Given the description of an element on the screen output the (x, y) to click on. 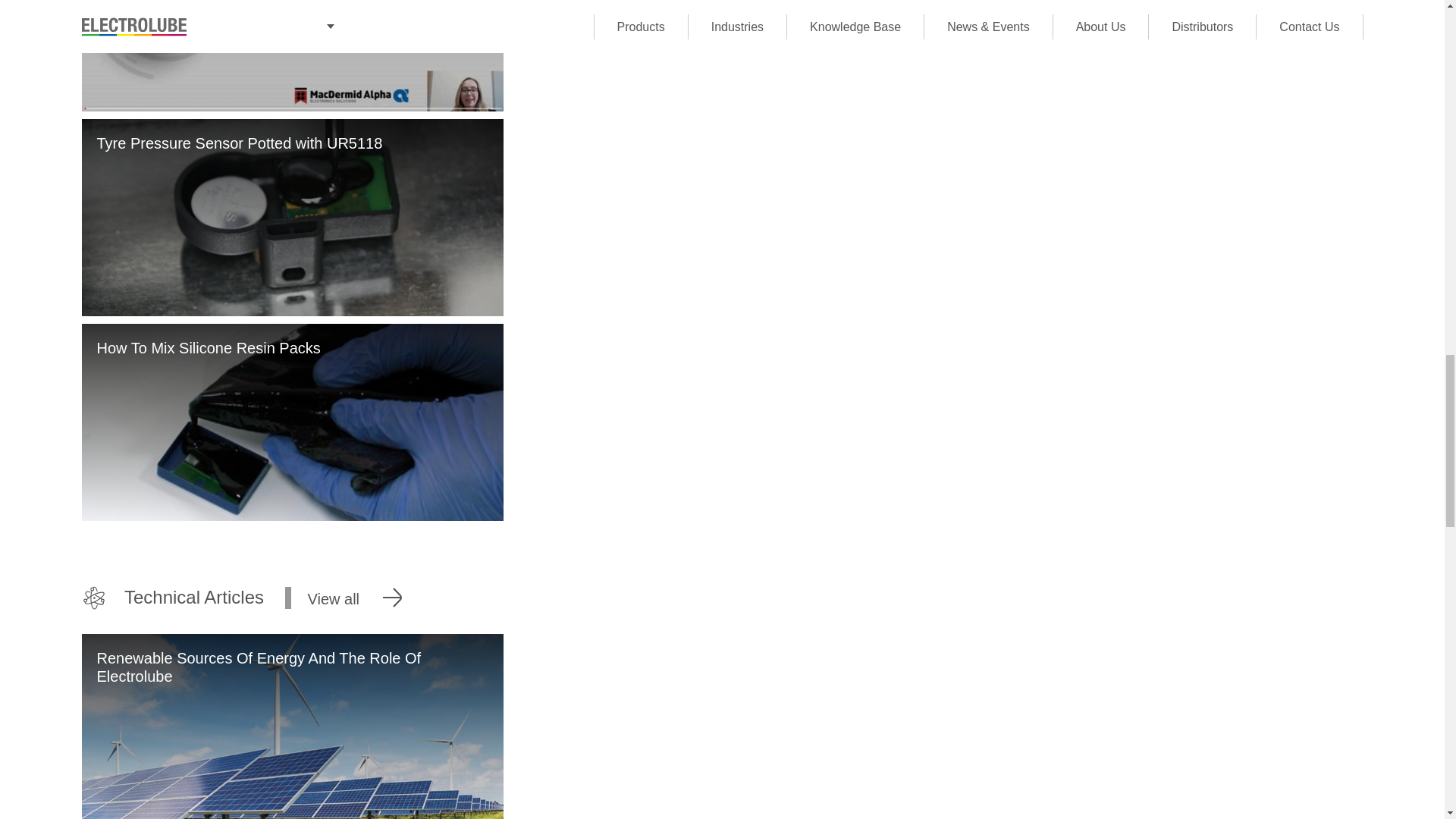
view How To Mix Silicone Resin Packs (292, 421)
view Tyre Pressure Sensor Potted with UR5118 (292, 217)
View all videos (722, 597)
